Given the description of an element on the screen output the (x, y) to click on. 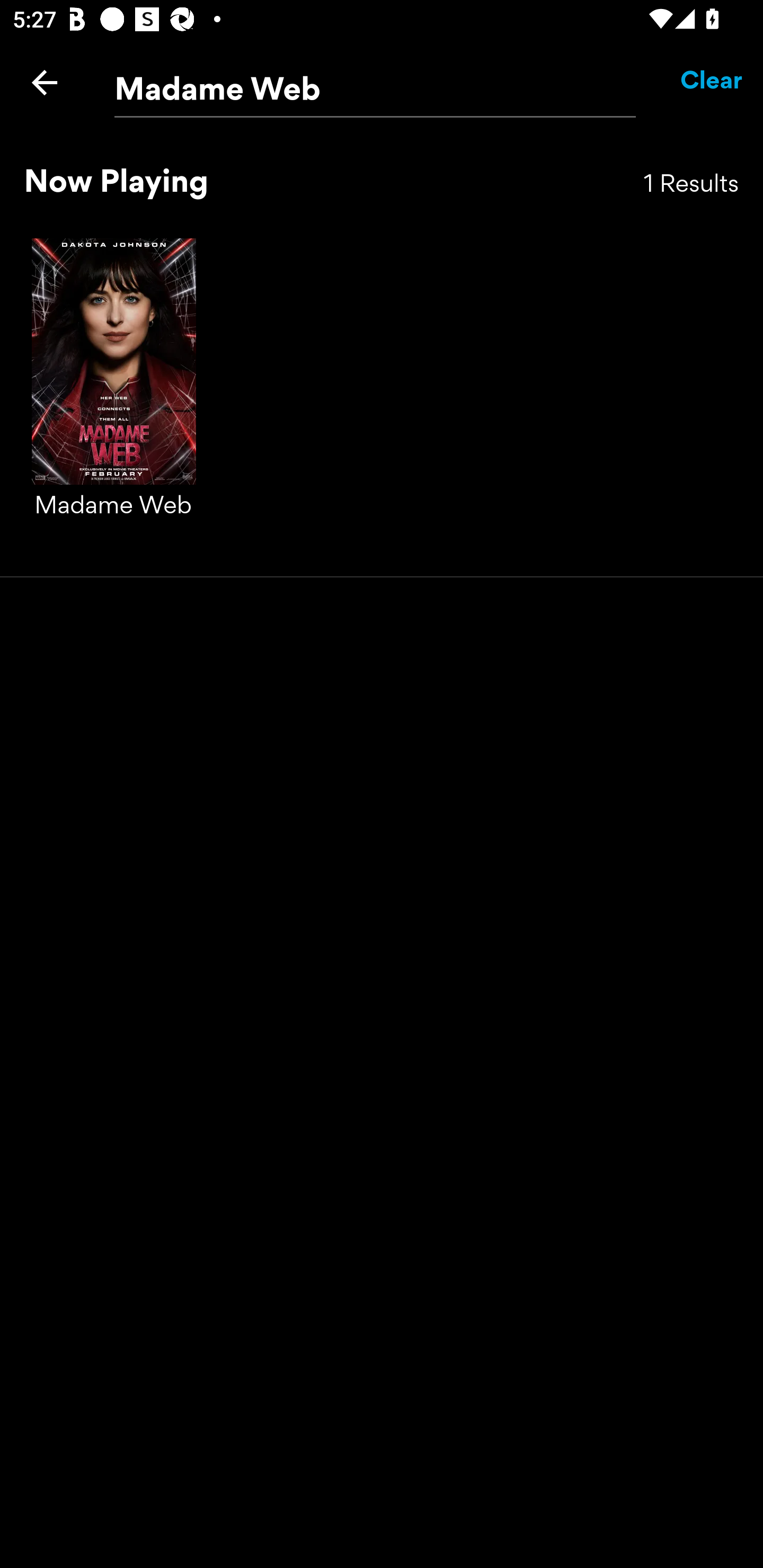
Back (44, 82)
Clear (712, 82)
Madame Web (374, 82)
Madame Web (114, 397)
